Given the description of an element on the screen output the (x, y) to click on. 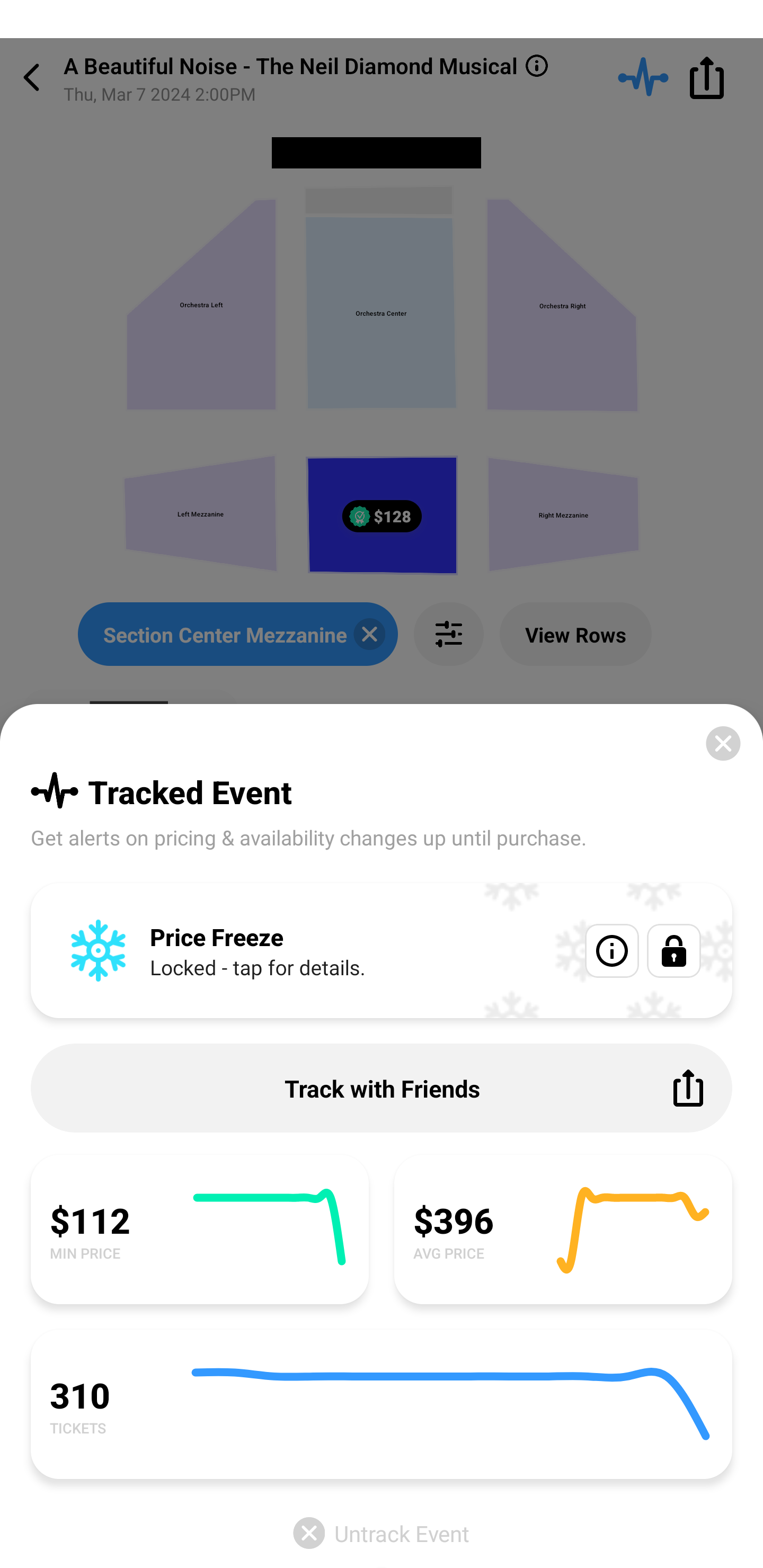
Track with Friends (381, 1088)
Untrack Event (381, 1533)
